Given the description of an element on the screen output the (x, y) to click on. 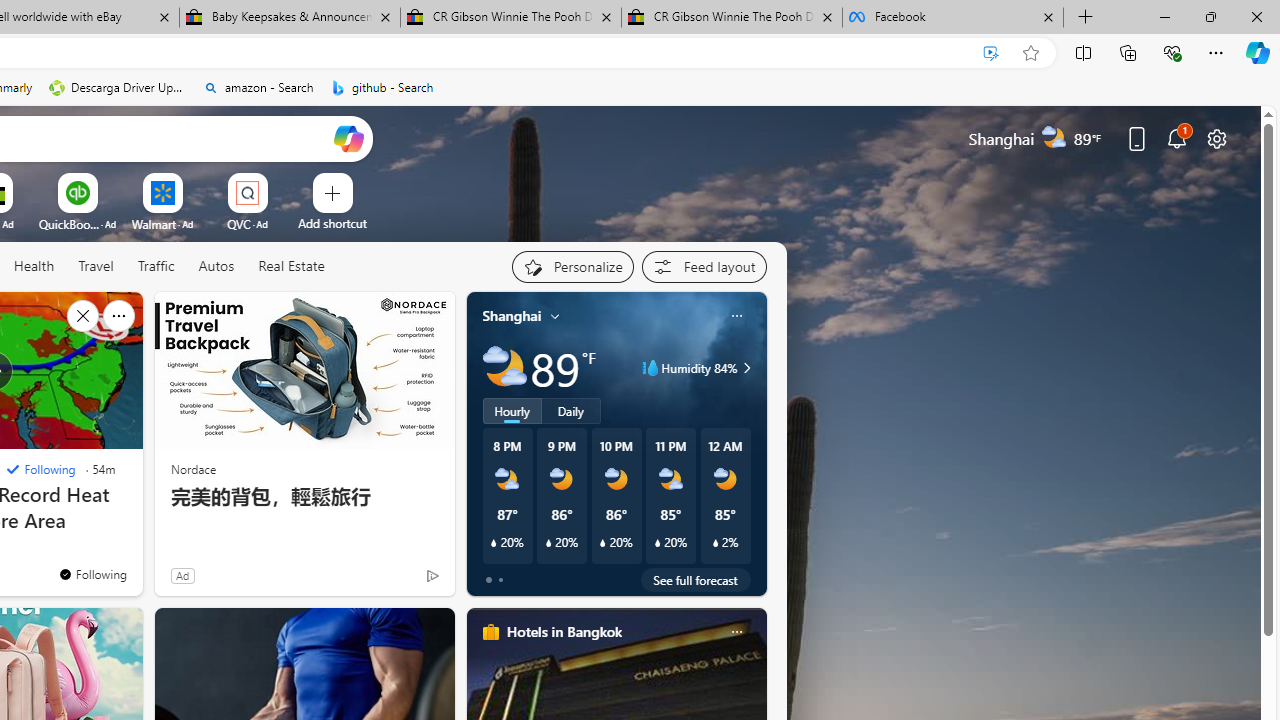
Add a site (332, 223)
Enhance video (991, 53)
See full forecast (695, 579)
Shanghai (511, 315)
Hide this story (82, 315)
